Given the description of an element on the screen output the (x, y) to click on. 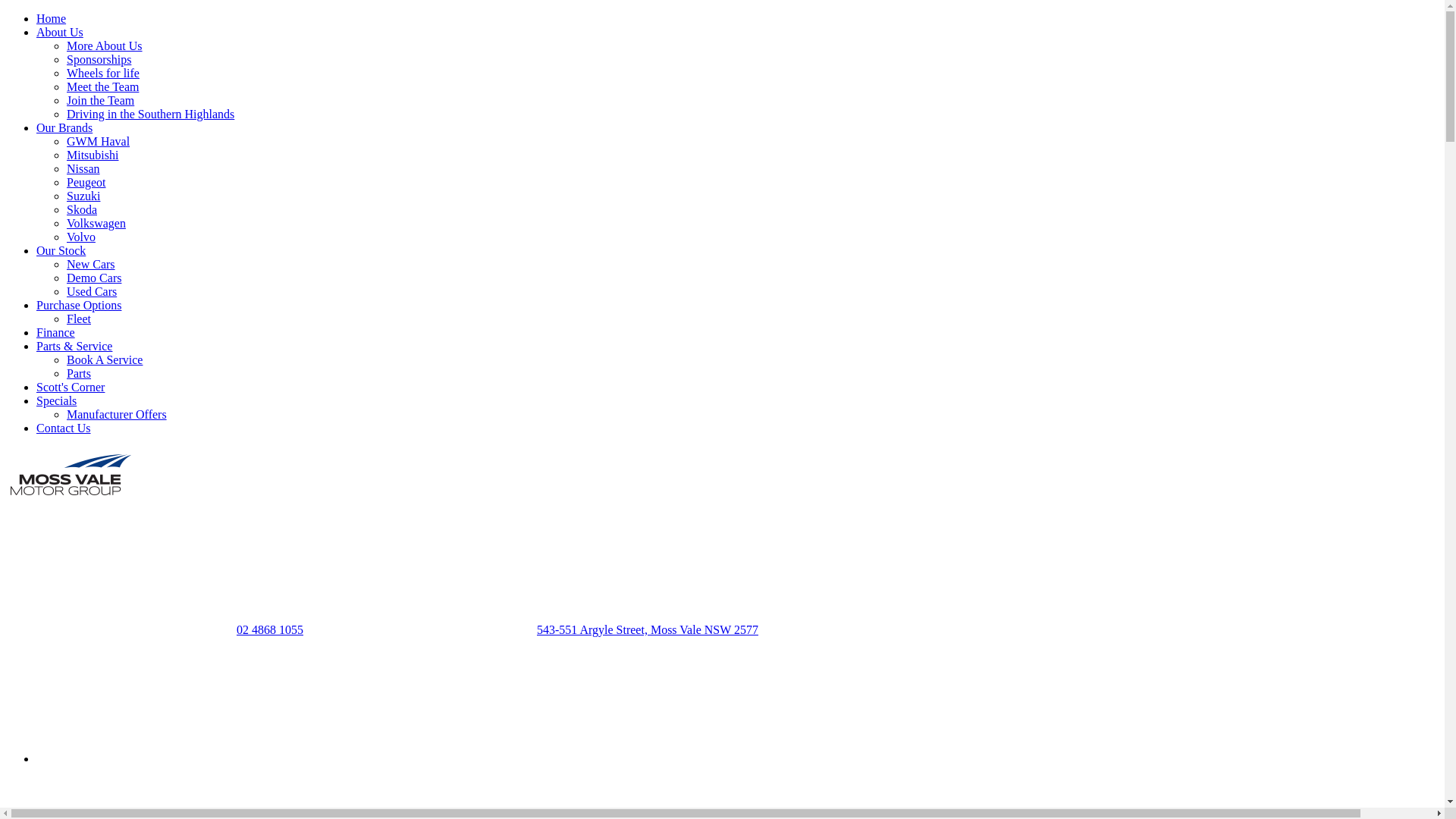
Parts Element type: text (78, 373)
Nissan Element type: text (83, 168)
Manufacturer Offers Element type: text (116, 413)
Book A Service Element type: text (104, 359)
543-551 Argyle Street, Moss Vale NSW 2577 Element type: text (647, 629)
More About Us Element type: text (104, 45)
Used Cars Element type: text (91, 291)
Demo Cars Element type: text (93, 277)
Home Element type: text (50, 18)
Suzuki Element type: text (83, 195)
Contact Us Element type: text (63, 427)
Purchase Options Element type: text (78, 304)
Finance Element type: text (55, 332)
Wheels for life Element type: text (102, 72)
02 4868 1055 Element type: text (269, 629)
Our Brands Element type: text (64, 127)
Meet the Team Element type: text (102, 86)
New Cars Element type: text (90, 263)
Volkswagen Element type: text (95, 222)
Scott's Corner Element type: text (70, 386)
Join the Team Element type: text (100, 100)
Mitsubishi Element type: text (92, 154)
GWM Haval Element type: text (97, 140)
Parts & Service Element type: text (74, 345)
Volvo Element type: text (80, 236)
Our Stock Element type: text (60, 250)
Peugeot Element type: text (86, 181)
Sponsorships Element type: text (98, 59)
Specials Element type: text (56, 400)
Driving in the Southern Highlands Element type: text (150, 113)
Fleet Element type: text (78, 318)
About Us Element type: text (59, 31)
Skoda Element type: text (81, 209)
